Given the description of an element on the screen output the (x, y) to click on. 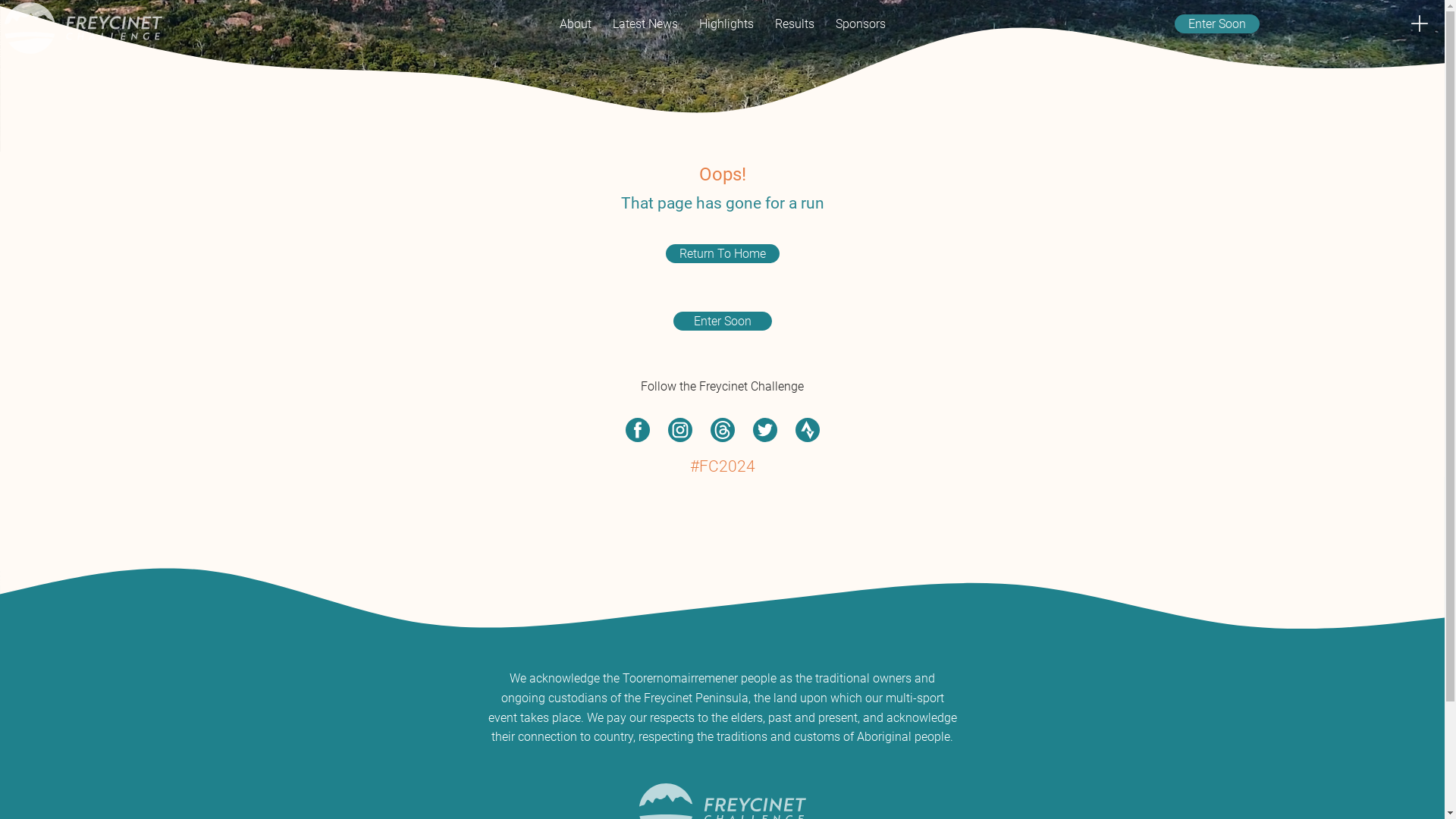
Follow the Freycinet Challenge on Facebook Element type: hover (636, 429)
Return To Home Element type: text (722, 253)
The Freycinet Challenge Element type: hover (83, 29)
Follow the Freycinet Challenge on Strava Element type: hover (806, 429)
Follow the Freycinet Challenge on Instagram Element type: hover (679, 429)
Enter Soon Element type: text (722, 320)
Latest News Element type: text (645, 23)
Follow the Freycinet Challenge on Twitter Element type: hover (764, 429)
About Element type: text (575, 23)
Follow the Freycinet Challenge on Threads Element type: hover (721, 429)
Highlights Element type: text (726, 23)
Results Element type: text (794, 23)
Skip to main content Element type: text (0, 0)
Sponsors Element type: text (860, 23)
Enter Soon Element type: text (1216, 23)
